Given the description of an element on the screen output the (x, y) to click on. 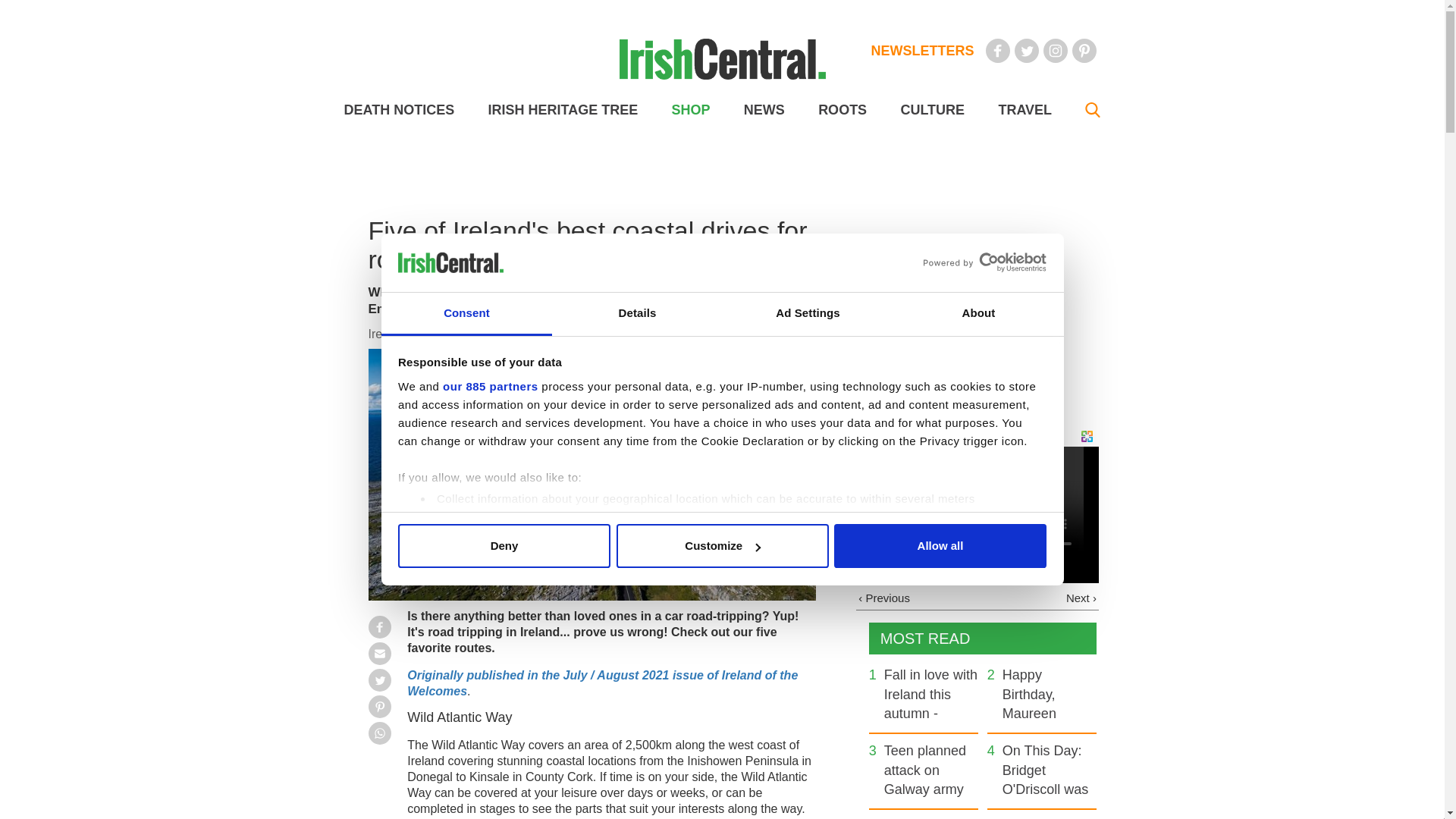
About (978, 313)
details section (927, 536)
our 885 partners (490, 386)
Details (636, 313)
Consent (465, 313)
Ad Settings (807, 313)
